Given the description of an element on the screen output the (x, y) to click on. 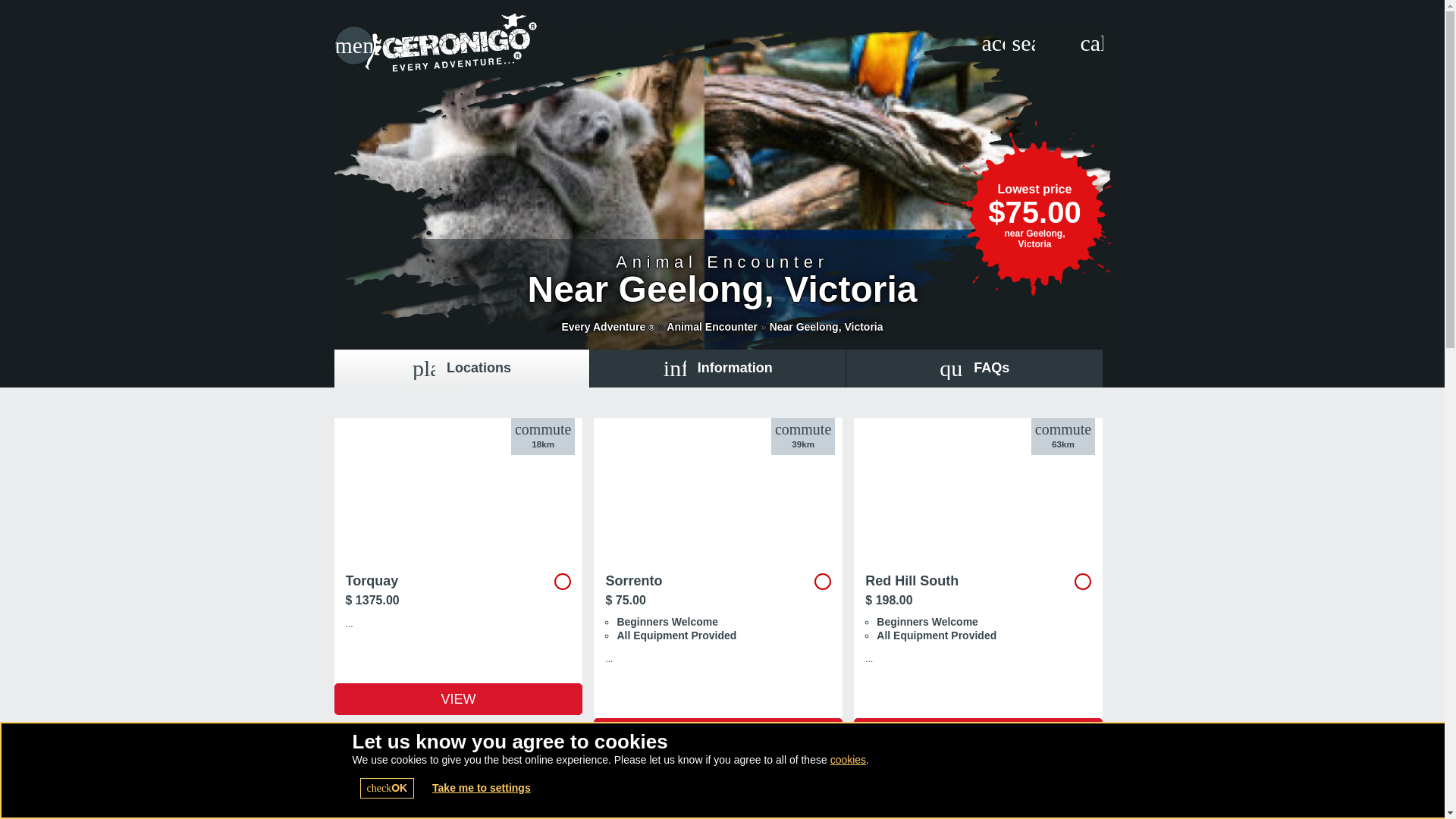
Your Booking (992, 42)
Animal Encounter near Geelong, Victoria (826, 326)
place Locations (461, 368)
Torquay details, packages (457, 698)
Red Hill South details, packages (977, 734)
Contact Us (1091, 42)
VIEW (977, 734)
Torquay details, packages (457, 550)
VIEW (718, 734)
info Information (717, 368)
